Given the description of an element on the screen output the (x, y) to click on. 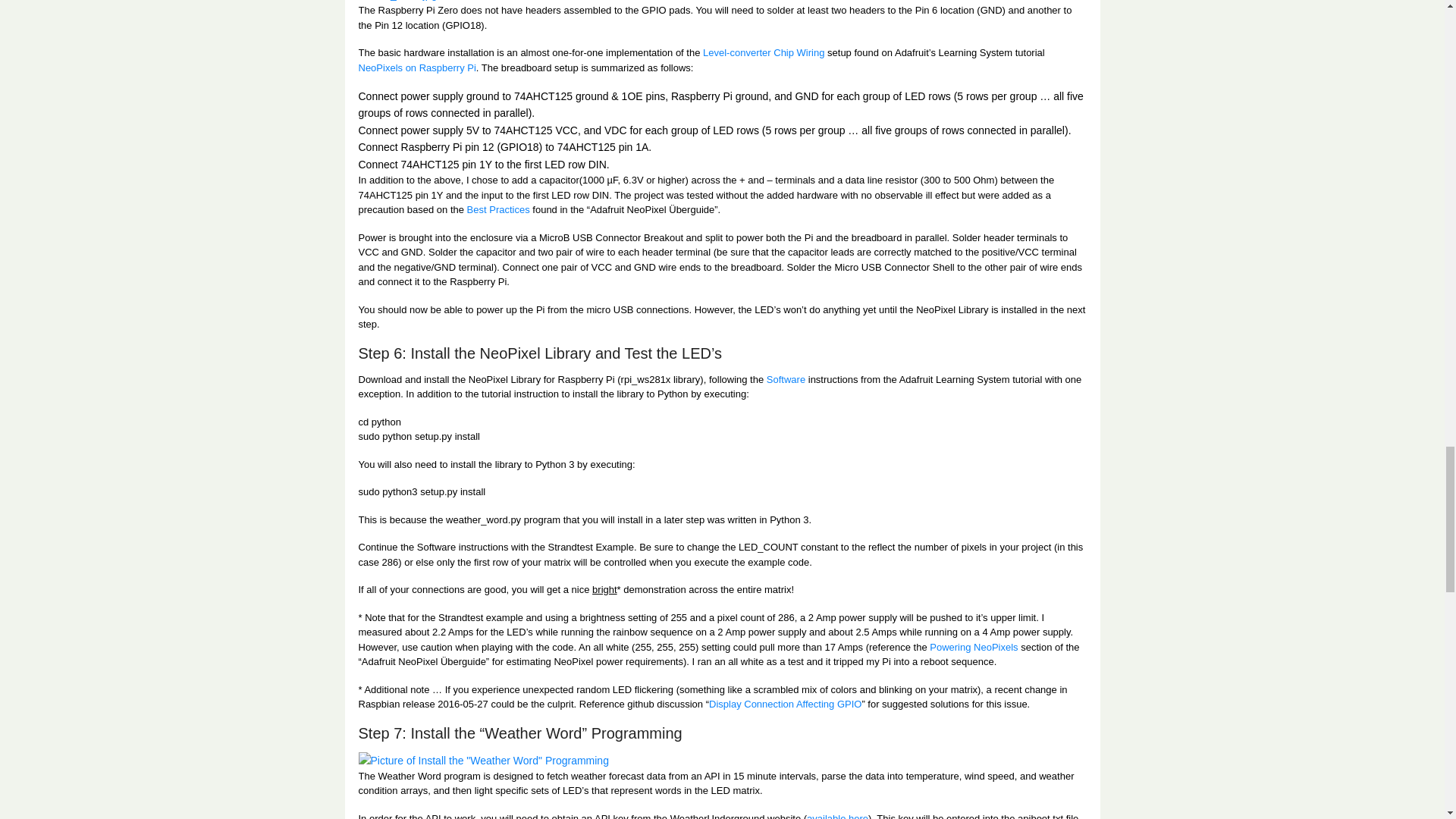
Best Practices (498, 209)
Powering NeoPixels (973, 646)
Level-converter Chip Wiring (763, 52)
Software (786, 378)
NeoPixels on Raspberry Pi (417, 67)
